Given the description of an element on the screen output the (x, y) to click on. 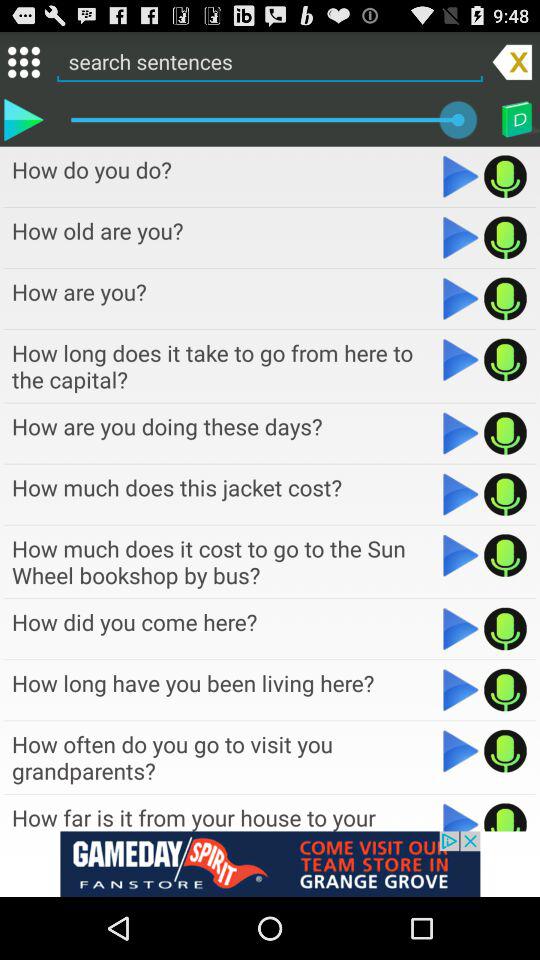
selected play (23, 119)
